Given the description of an element on the screen output the (x, y) to click on. 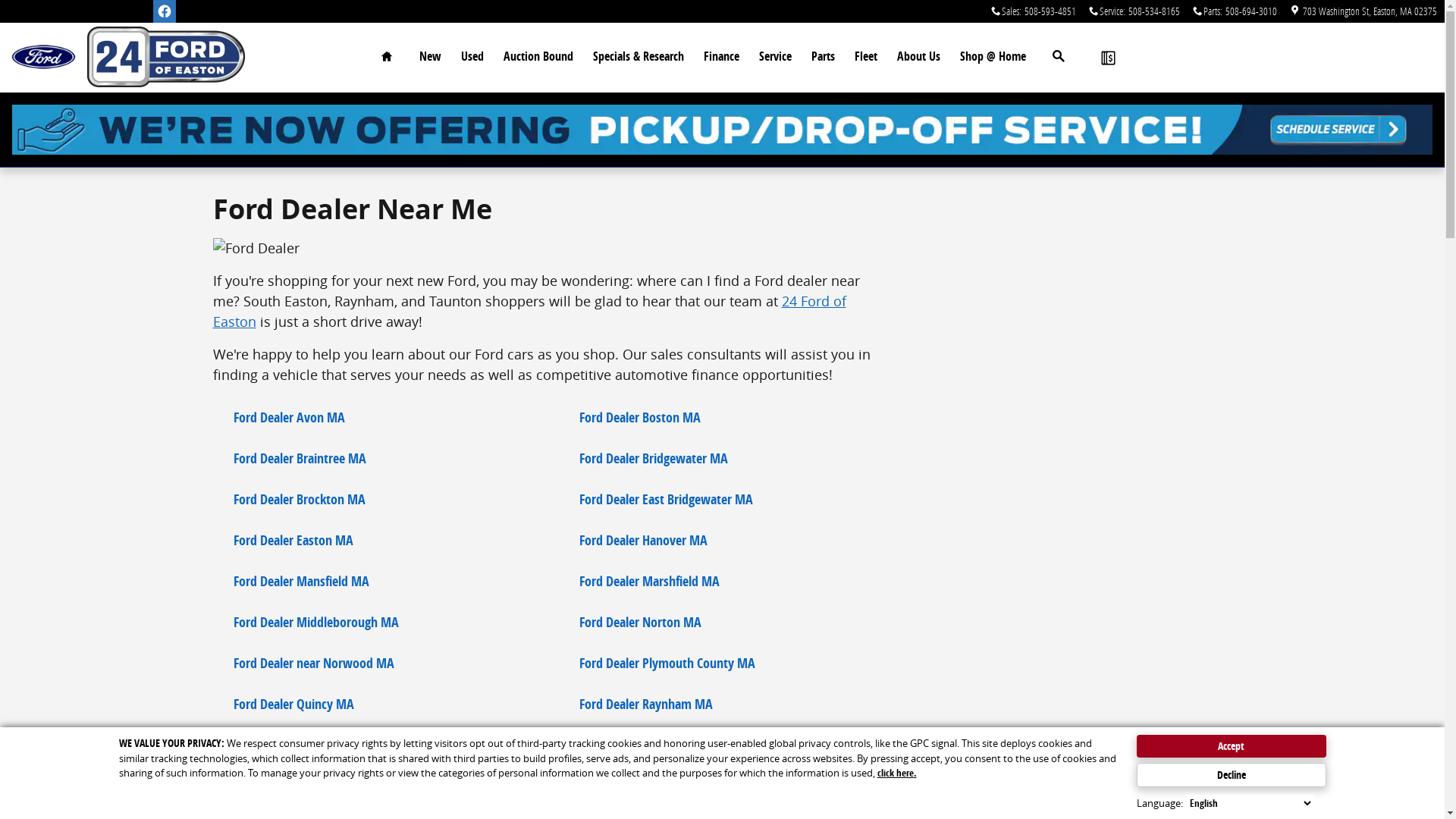
Ford Dealer Stoughton MA Element type: text (647, 744)
Specials & Research Element type: text (637, 56)
Used Element type: text (471, 56)
Ford Dealer Brockton MA Element type: text (298, 499)
Ford Dealer Middleborough MA Element type: text (315, 622)
Search the whole site!  Element type: hover (1058, 56)
Home Element type: hover (43, 56)
Ford Dealer Mansfield MA Element type: text (300, 581)
Home Element type: text (386, 56)
Visit us on Facebook Element type: hover (164, 11)
Fleet Element type: text (865, 56)
Decline Element type: text (1230, 774)
Ford Dealer Boston MA Element type: text (639, 417)
Ford Dealer Taunton MA Element type: text (296, 785)
Ford Dealer Norton MA Element type: text (639, 622)
Ford Dealer Bridgewater MA Element type: text (652, 458)
Ford Dealer Braintree MA Element type: text (298, 458)
Ford Dealer East Bridgewater MA Element type: text (665, 499)
Ford Dealer Avon MA Element type: text (288, 417)
Ford Dealer Hanover MA Element type: text (642, 540)
Ford Dealer Raynham MA Element type: text (645, 704)
New Element type: text (430, 56)
Skip to main content Element type: text (0, 0)
Ford Dealer South Easton MA Element type: text (309, 744)
Ford Dealer near Norwood MA Element type: text (313, 663)
Service Element type: text (775, 56)
click here. Element type: text (896, 772)
Ford Dealer Marshfield MA Element type: text (648, 581)
Parts Element type: text (822, 56)
Ford Dealer Plymouth County MA Element type: text (666, 663)
About Us Element type: text (918, 56)
Ford Dealer West Bridgewater MA Element type: text (667, 785)
Auction Bound Element type: text (537, 56)
24 Ford of Easton Element type: text (528, 310)
Shop @ Home Element type: text (992, 56)
Ford Dealer Quincy MA Element type: text (292, 704)
Accept Element type: text (1230, 745)
703 Washington St Easton, MA 02375 Element type: text (1363, 10)
Ford Dealer Easton MA Element type: text (292, 540)
Finance Element type: text (720, 56)
